Given the description of an element on the screen output the (x, y) to click on. 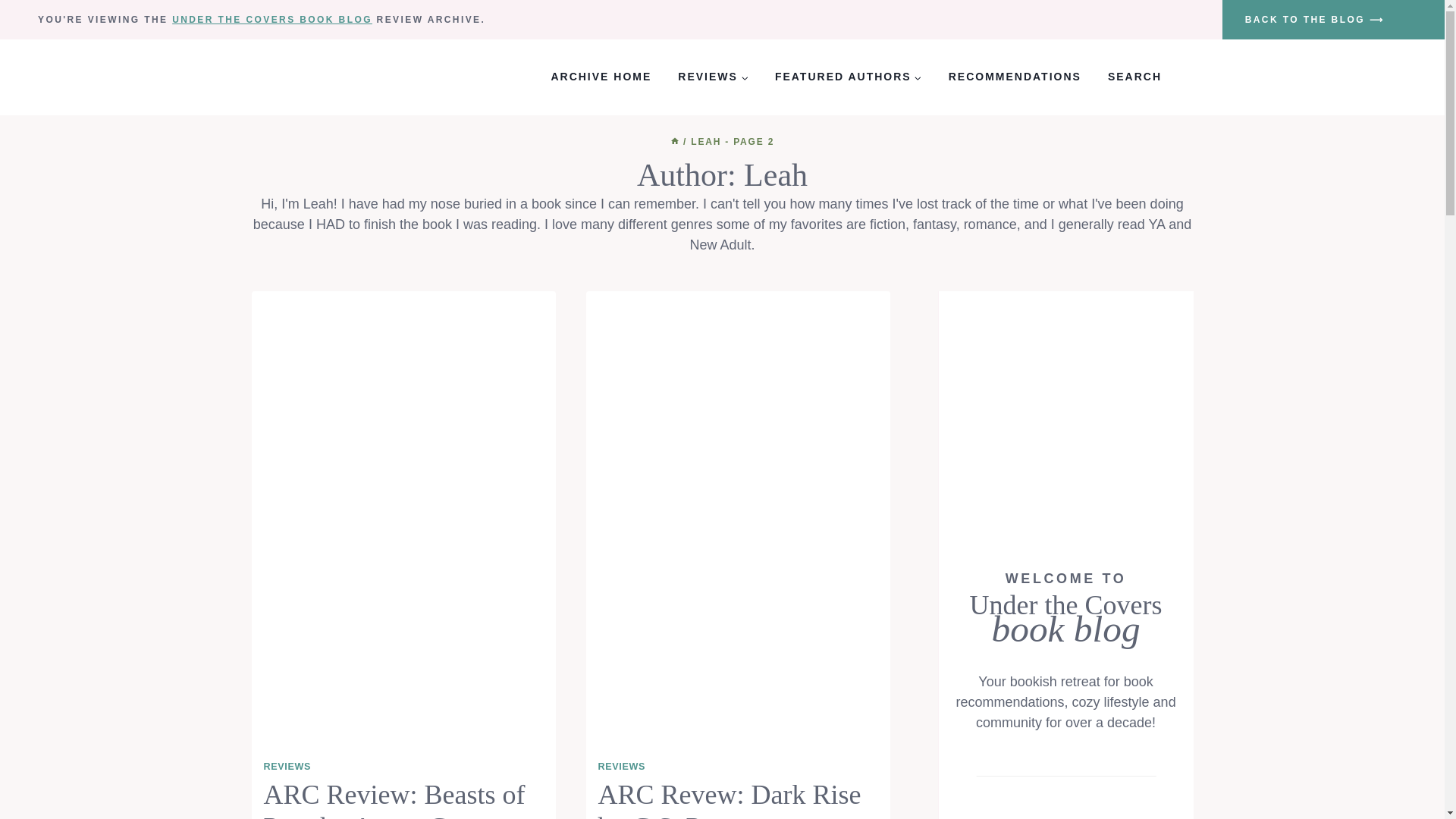
ARC Revew: Dark Rise by C.S. Pacat (729, 799)
UNDER THE COVERS BOOK BLOG (271, 19)
REVIEWS (287, 766)
RECOMMENDATIONS (1014, 77)
FEATURED AUTHORS (847, 77)
REVIEWS (622, 766)
SEARCH (1134, 77)
ARC Review: Beasts of Prey by Ayana Gray (394, 799)
REVIEWS (713, 77)
ARCHIVE HOME (601, 77)
